Given the description of an element on the screen output the (x, y) to click on. 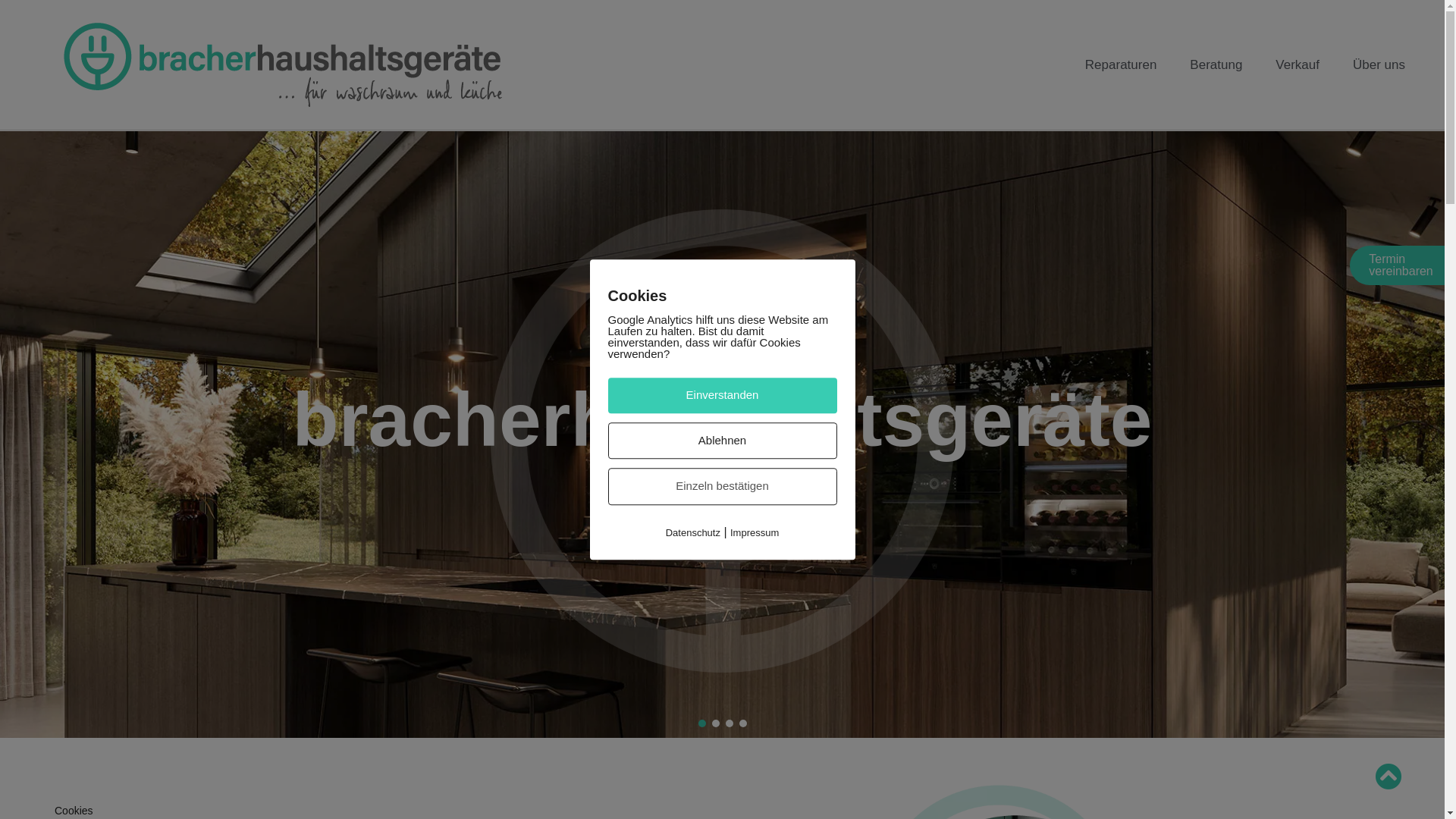
Datenschutz Element type: text (692, 532)
Reparaturen Element type: text (1120, 64)
Beratung Element type: text (1215, 64)
Impressum Element type: text (754, 532)
Ablehnen Element type: text (722, 440)
Einverstanden Element type: text (722, 395)
Verkauf Element type: text (1297, 64)
